Given the description of an element on the screen output the (x, y) to click on. 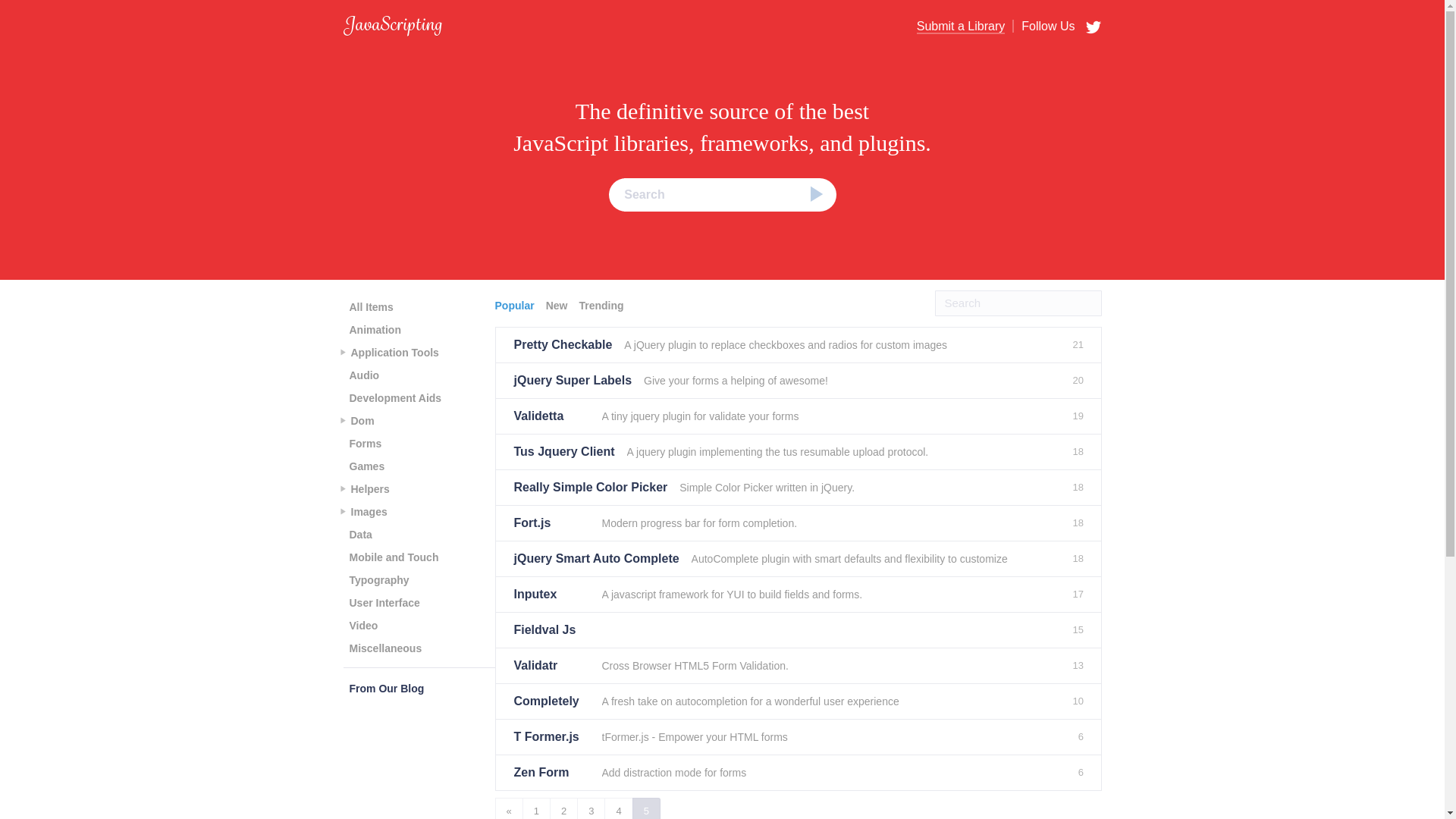
Popular (516, 305)
Tus Jquery Client (563, 451)
Miscellaneous (385, 648)
Animation (374, 329)
jQuery Super Labels (572, 380)
Really Simple Color Picker (590, 487)
New (559, 305)
Trending (602, 305)
Video (363, 625)
Typography (378, 579)
Mobile and Touch (393, 557)
Submit a Library (961, 26)
All Items (370, 306)
User Interface (383, 602)
Fort.js (551, 523)
